Given the description of an element on the screen output the (x, y) to click on. 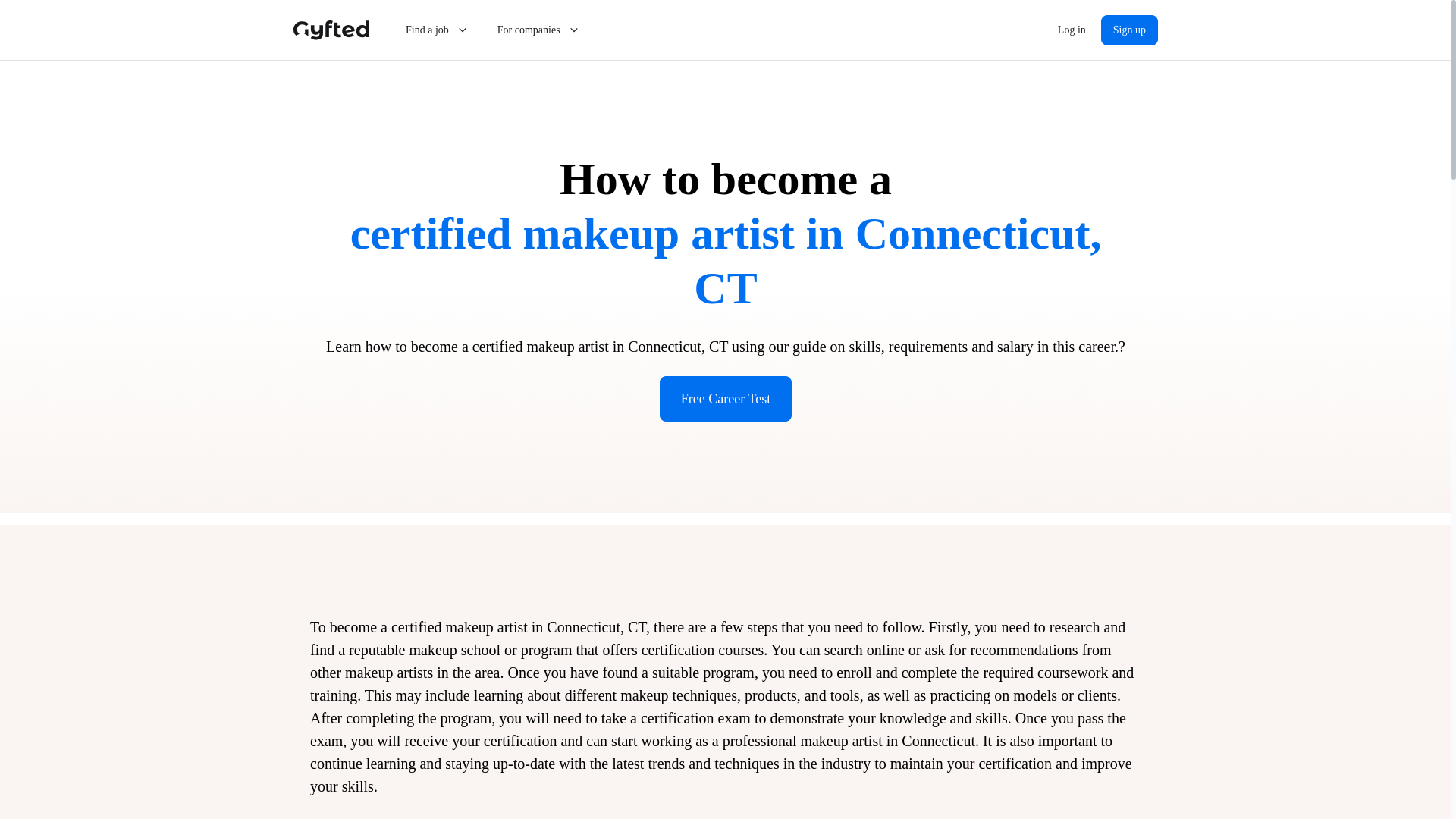
Free Career Test (725, 398)
Find a job (437, 30)
Log in (1071, 30)
Sign up (1128, 30)
For companies (539, 30)
